Given the description of an element on the screen output the (x, y) to click on. 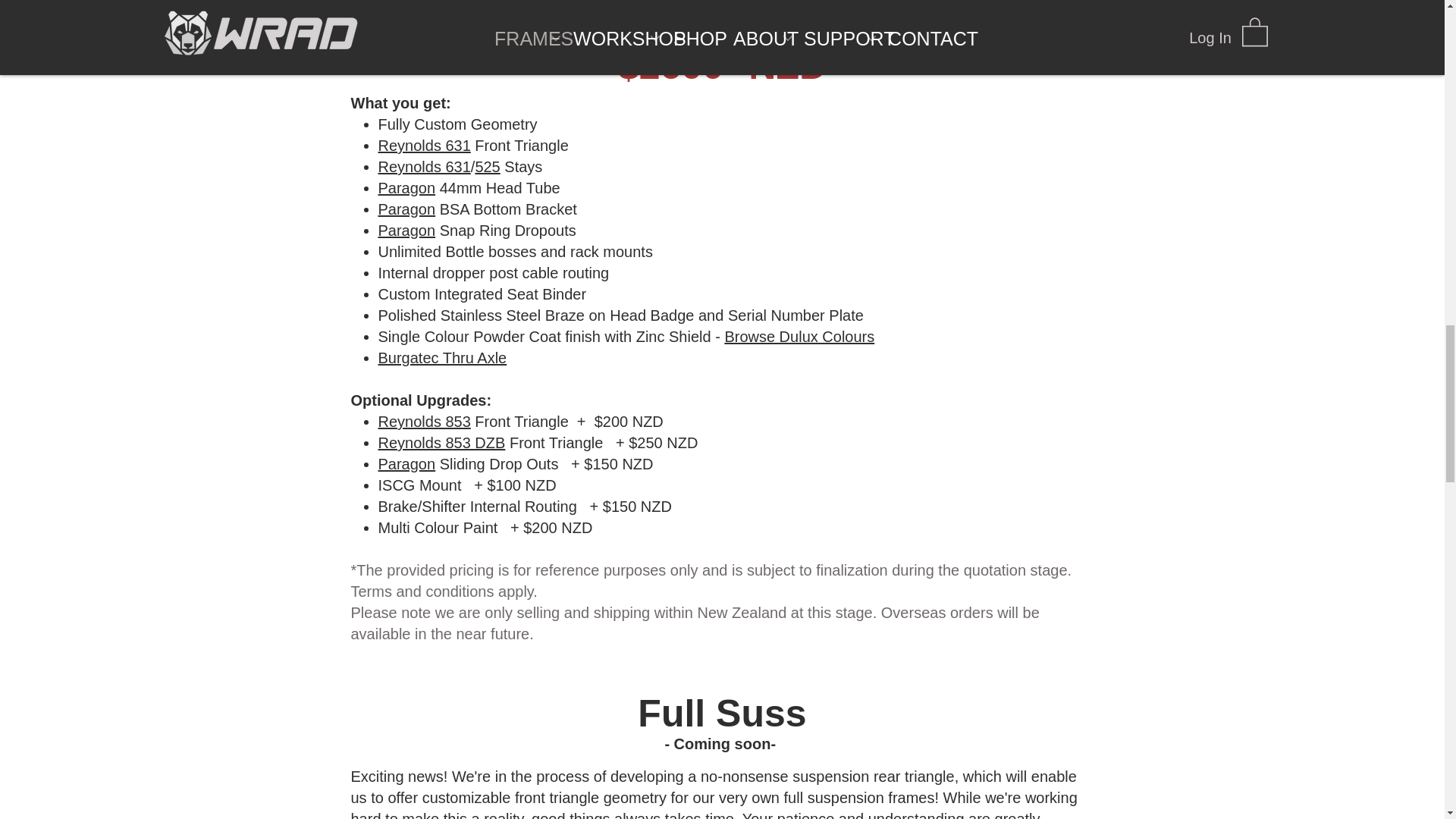
Burgatec Thru Axle (441, 357)
Reynolds 631 (423, 145)
Browse Dulux Colours (799, 336)
Reynolds 631 (423, 166)
Paragon (406, 230)
Paragon (406, 208)
Paragon (406, 187)
525 (486, 166)
